Given the description of an element on the screen output the (x, y) to click on. 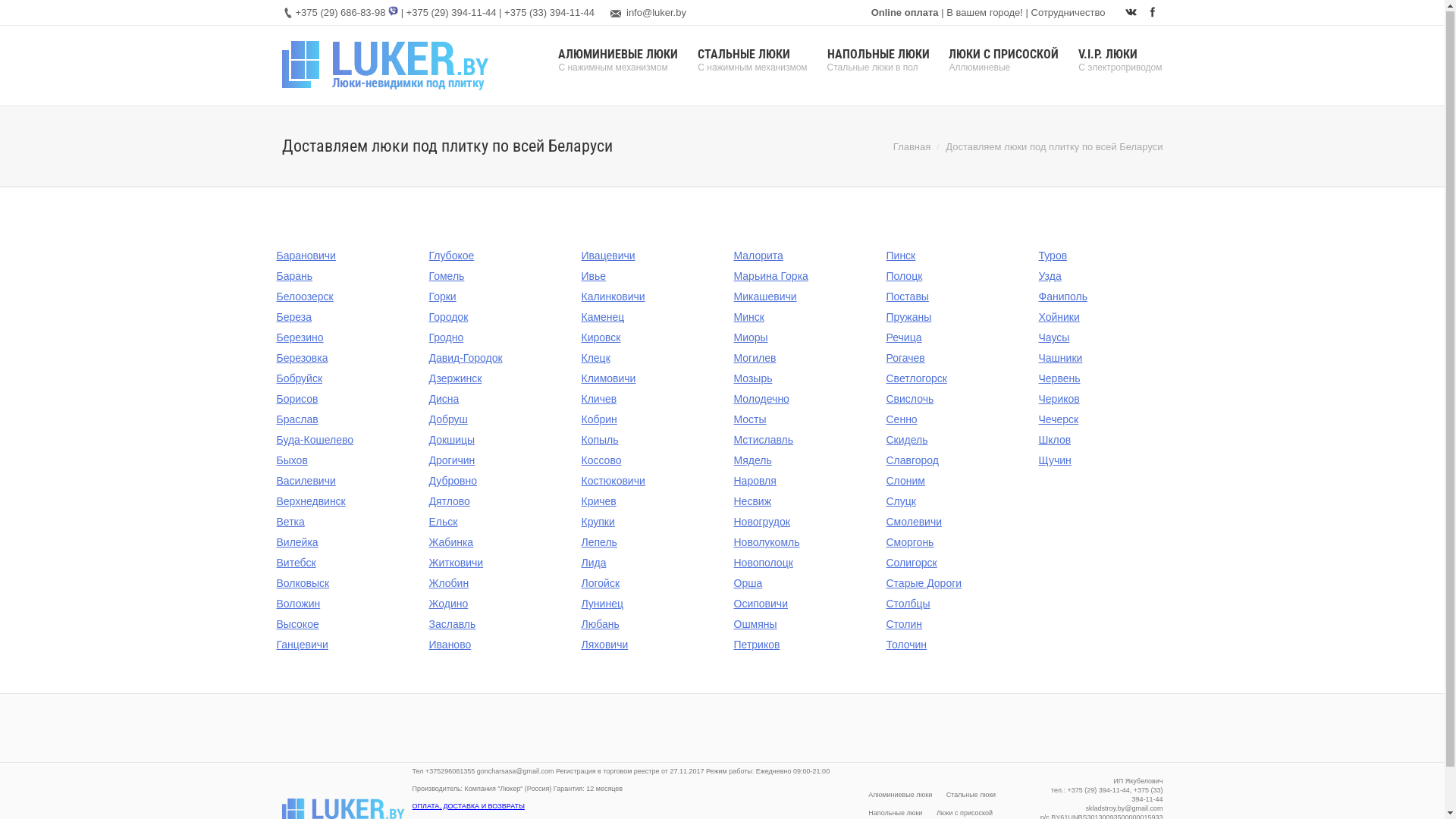
VK Element type: hover (1131, 12)
Facebook Element type: hover (1152, 12)
info@luker.by Element type: text (656, 12)
